Given the description of an element on the screen output the (x, y) to click on. 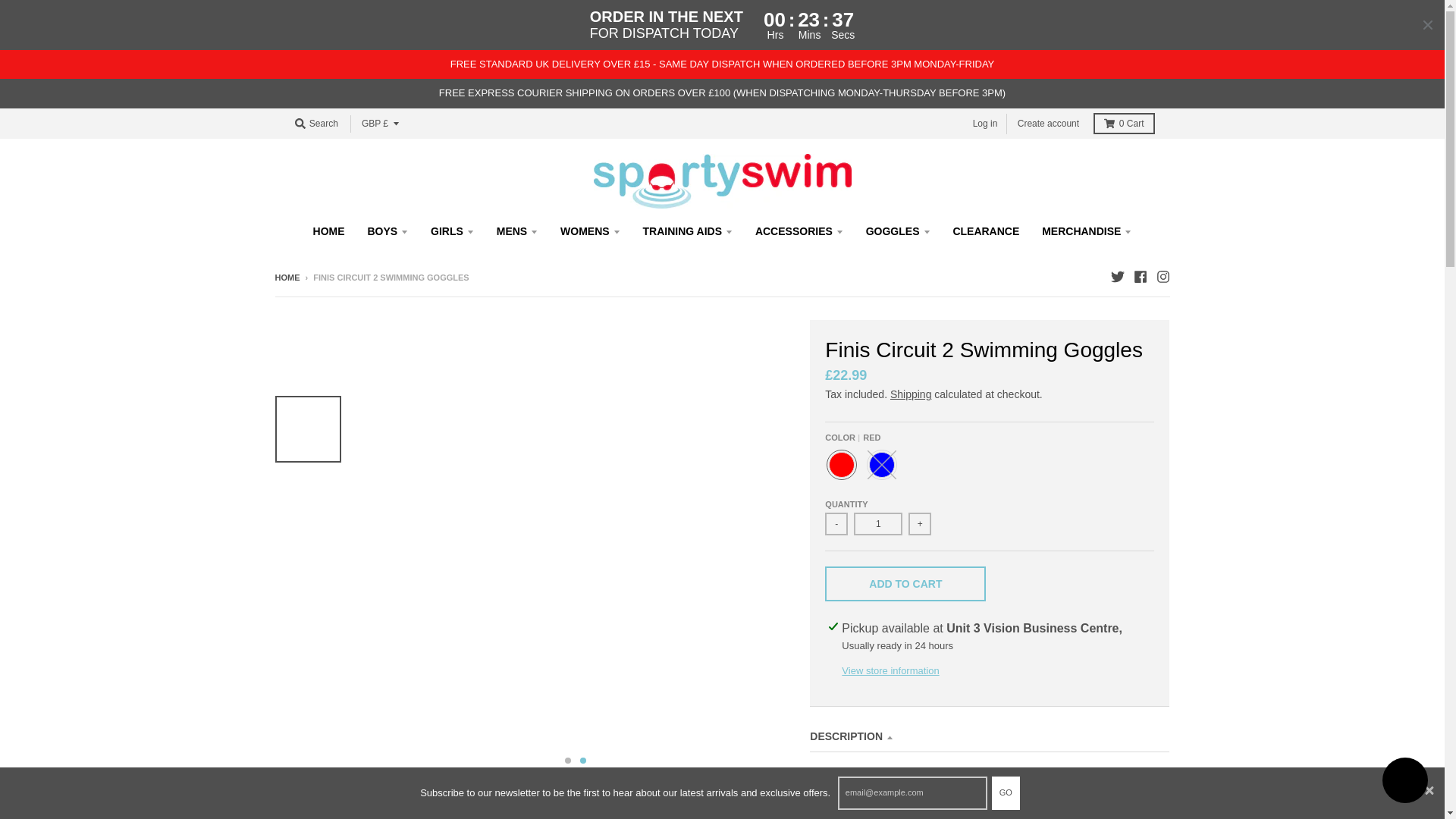
Search (315, 123)
Blue (881, 464)
Twitter - SportySwim (1116, 276)
Red (842, 464)
1 (877, 523)
Back to the frontpage (287, 276)
Instagram - SportySwim (1162, 276)
Facebook - SportySwim (1139, 276)
